Given the description of an element on the screen output the (x, y) to click on. 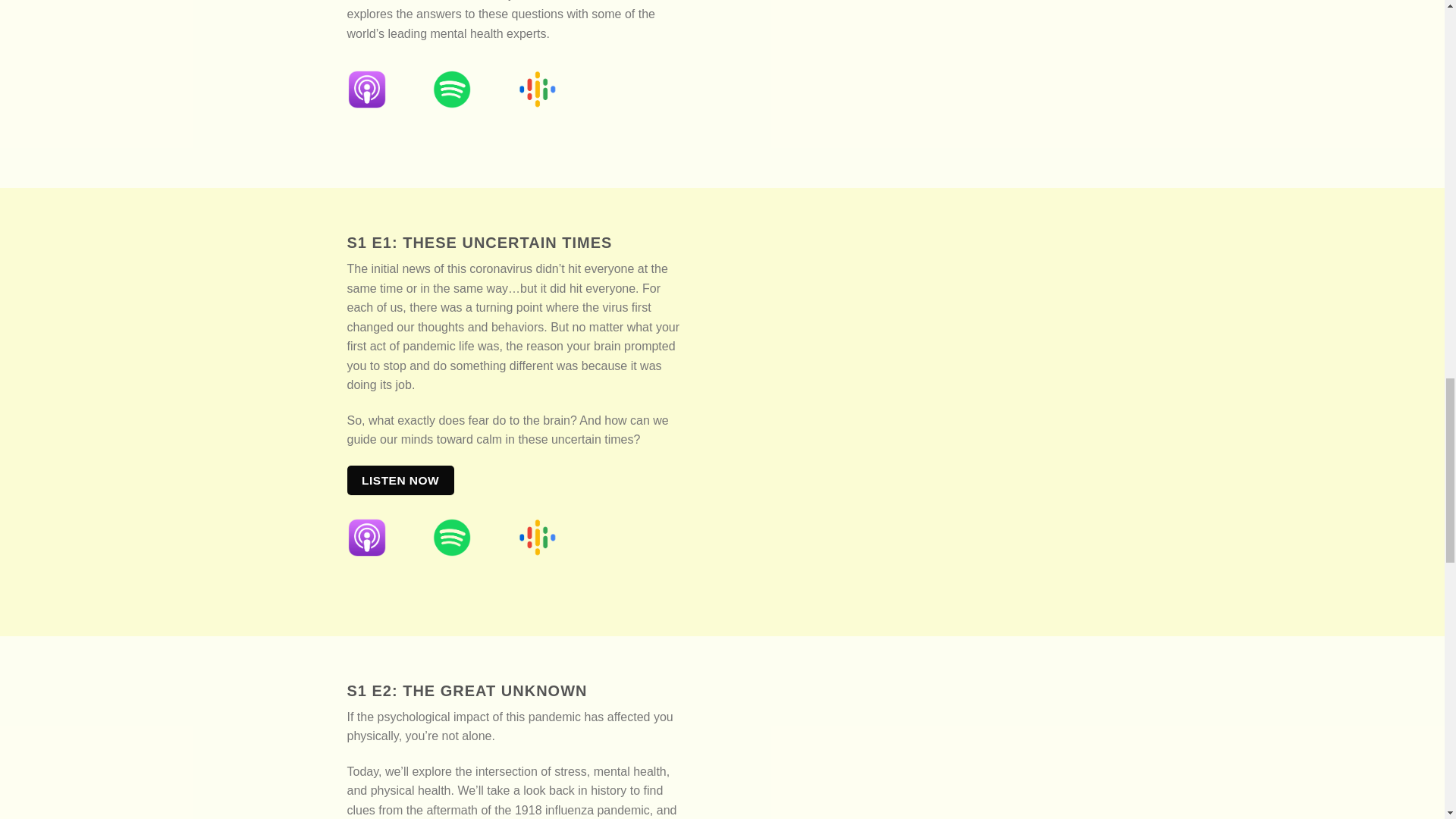
Dr. Jon Caldwell (927, 399)
LISTEN NOW (400, 480)
